Given the description of an element on the screen output the (x, y) to click on. 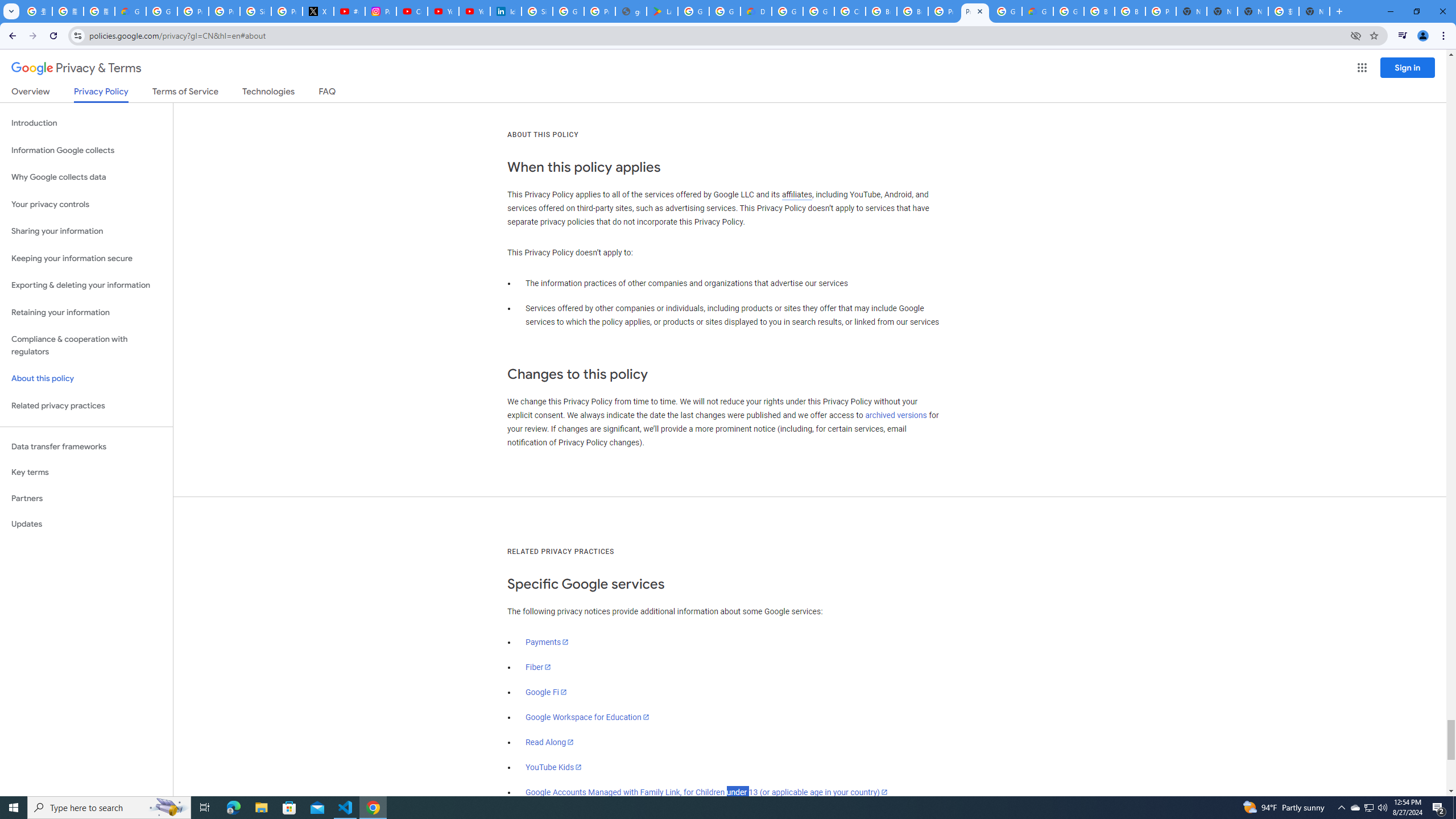
Last Shelter: Survival - Apps on Google Play (662, 11)
Information Google collects (86, 150)
Why Google collects data (86, 176)
Browse Chrome as a guest - Computer - Google Chrome Help (881, 11)
YouTube Culture & Trends - YouTube Top 10, 2021 (474, 11)
